Given the description of an element on the screen output the (x, y) to click on. 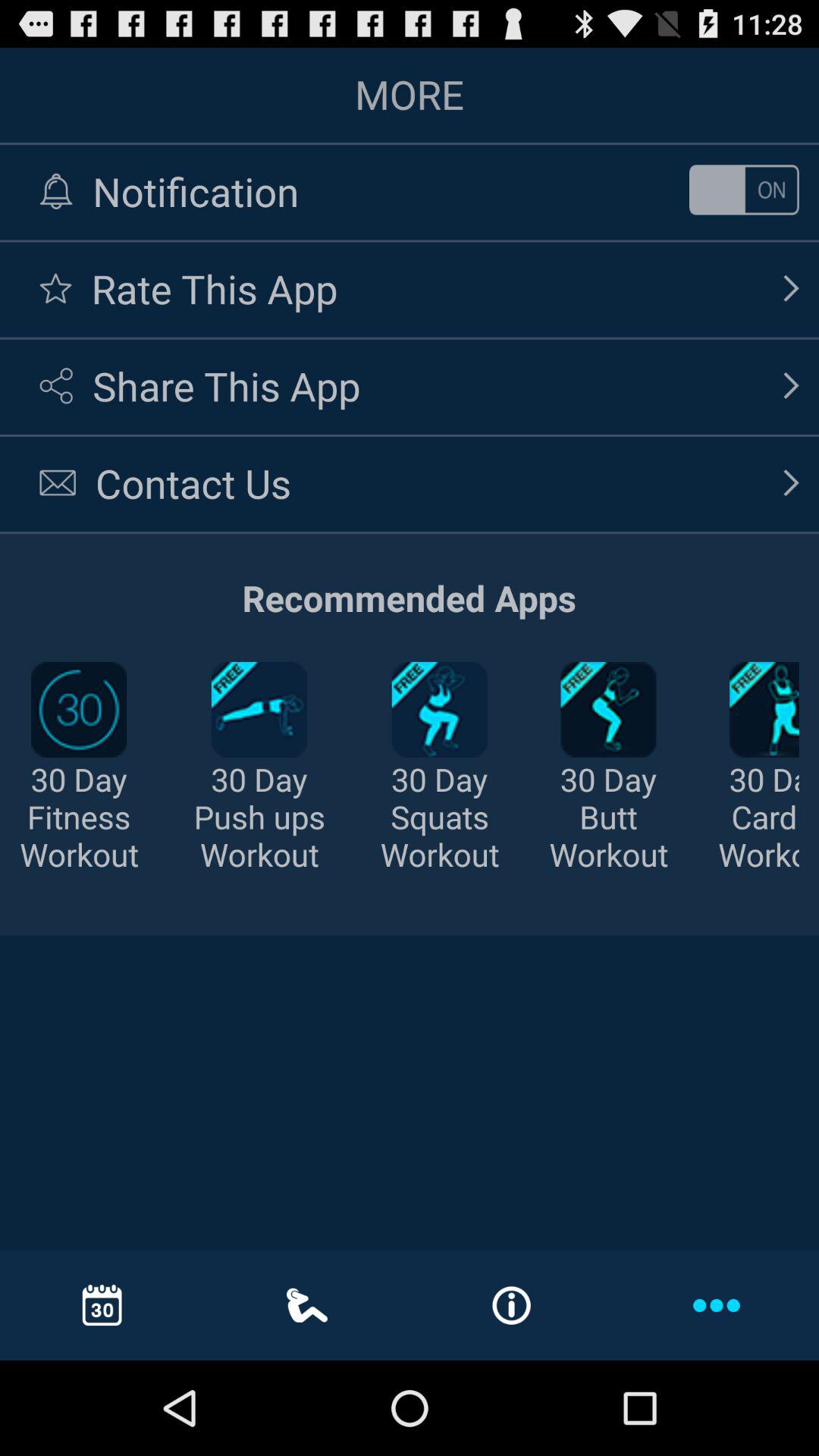
click on the arrow symbol which is right to rate this app text (791, 288)
